Given the description of an element on the screen output the (x, y) to click on. 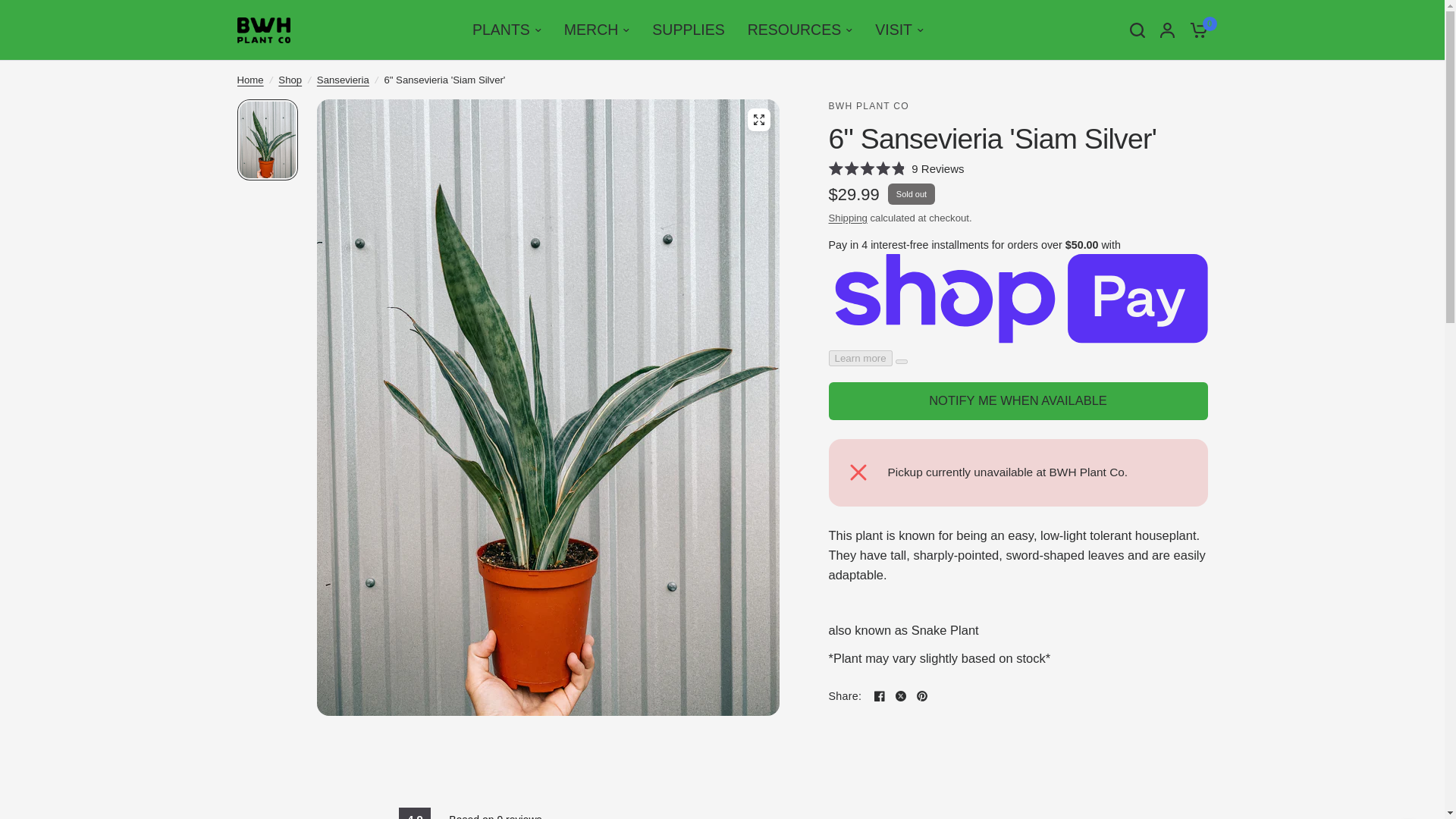
PLANTS (506, 29)
